Given the description of an element on the screen output the (x, y) to click on. 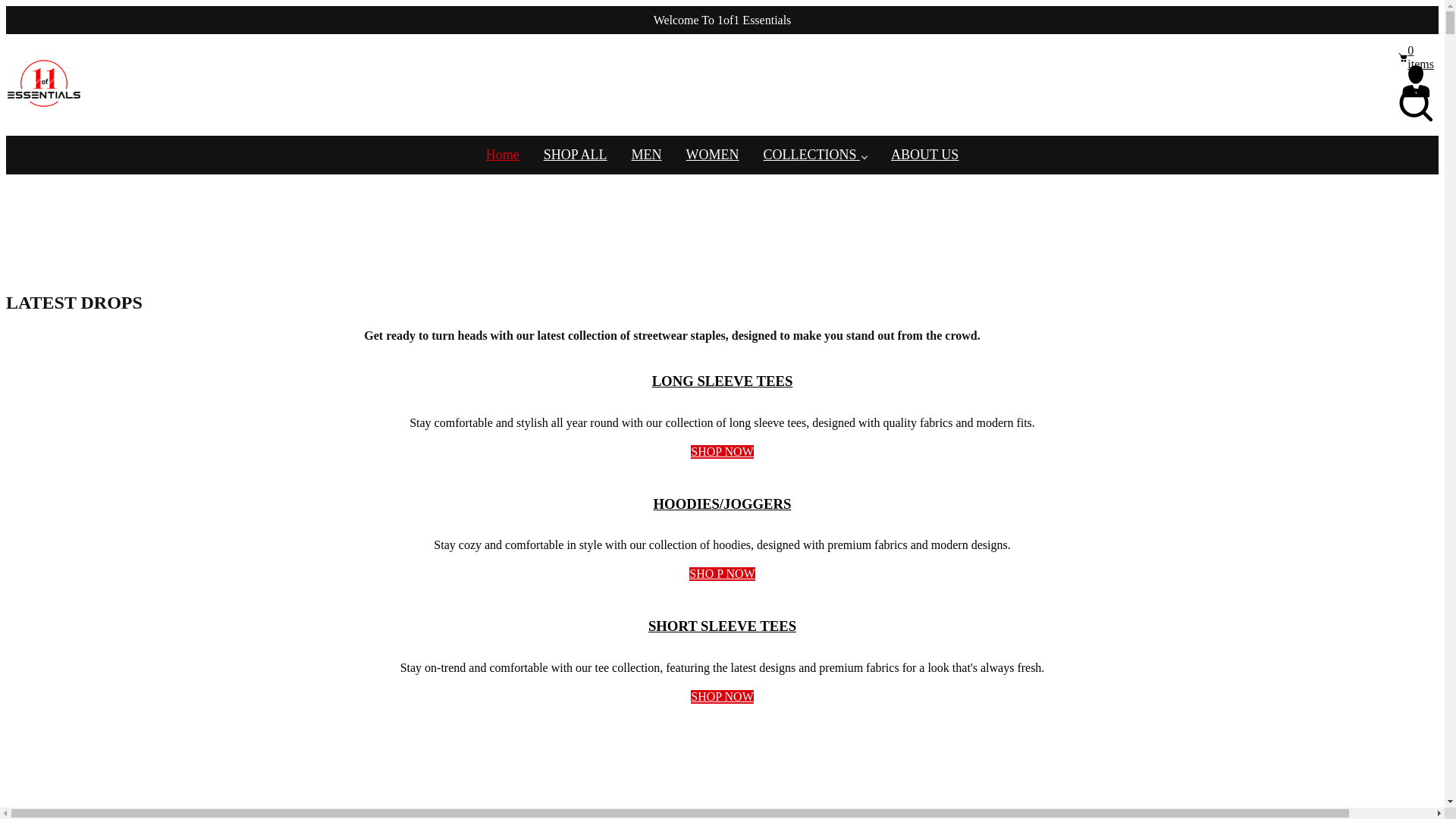
ABOUT US Element type: text (924, 154)
Search Element type: text (1415, 104)
Your Cart
0 items Element type: text (1415, 57)
HOODIES/JOGGERS Element type: text (722, 503)
WOMEN Element type: text (712, 154)
SHO P NOW Element type: text (722, 573)
SHOP NOW Element type: text (721, 451)
MEN Element type: text (646, 154)
SHOP ALL Element type: text (575, 154)
SHOP NOW Element type: text (721, 696)
LONG SLEEVE TEES Element type: text (722, 381)
Home Element type: text (502, 154)
Sign In Element type: text (1415, 80)
COLLECTIONS Element type: text (815, 154)
SHORT SLEEVE TEES Element type: text (722, 625)
